Given the description of an element on the screen output the (x, y) to click on. 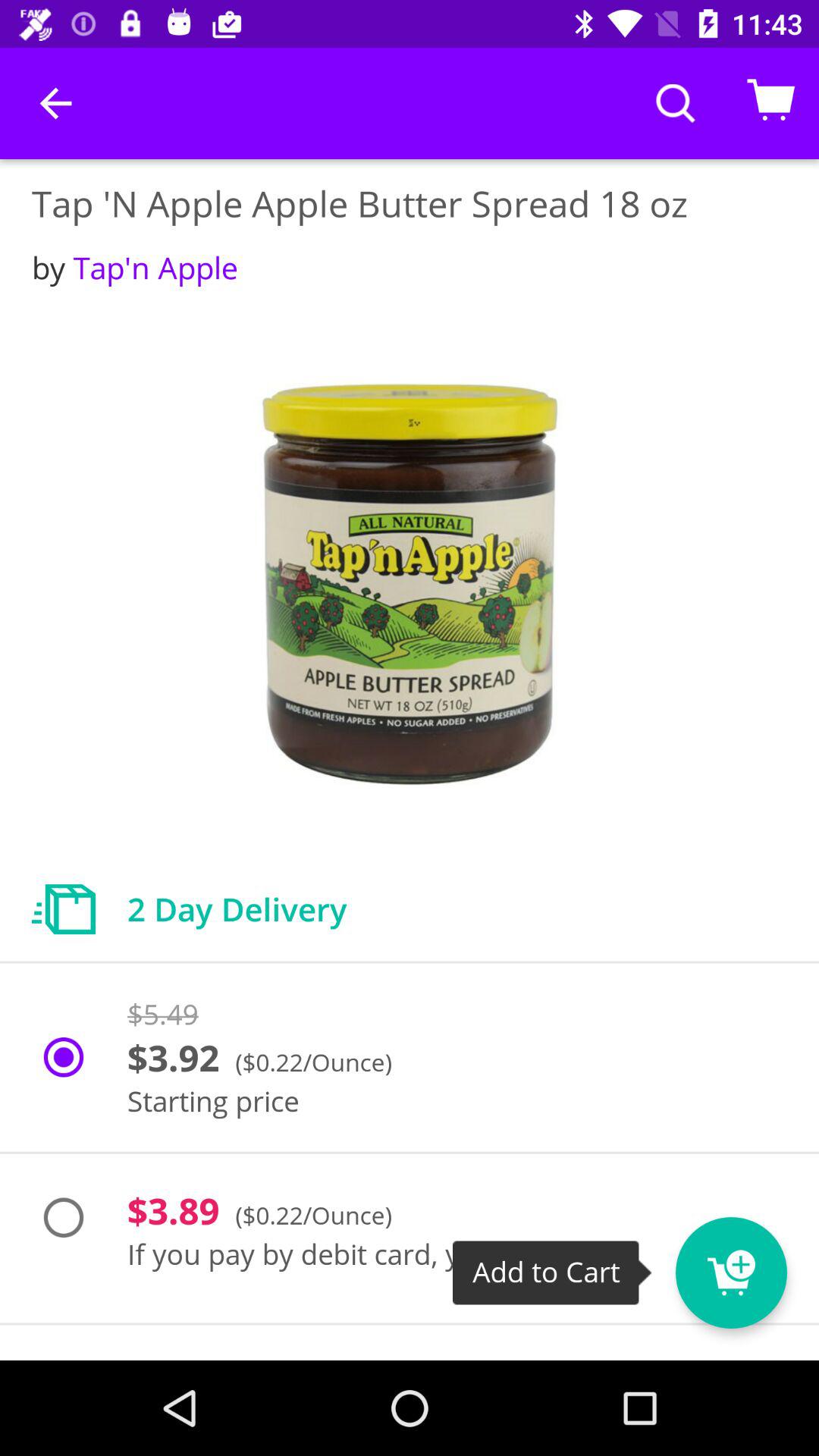
select the item below the by tap n item (409, 585)
